Given the description of an element on the screen output the (x, y) to click on. 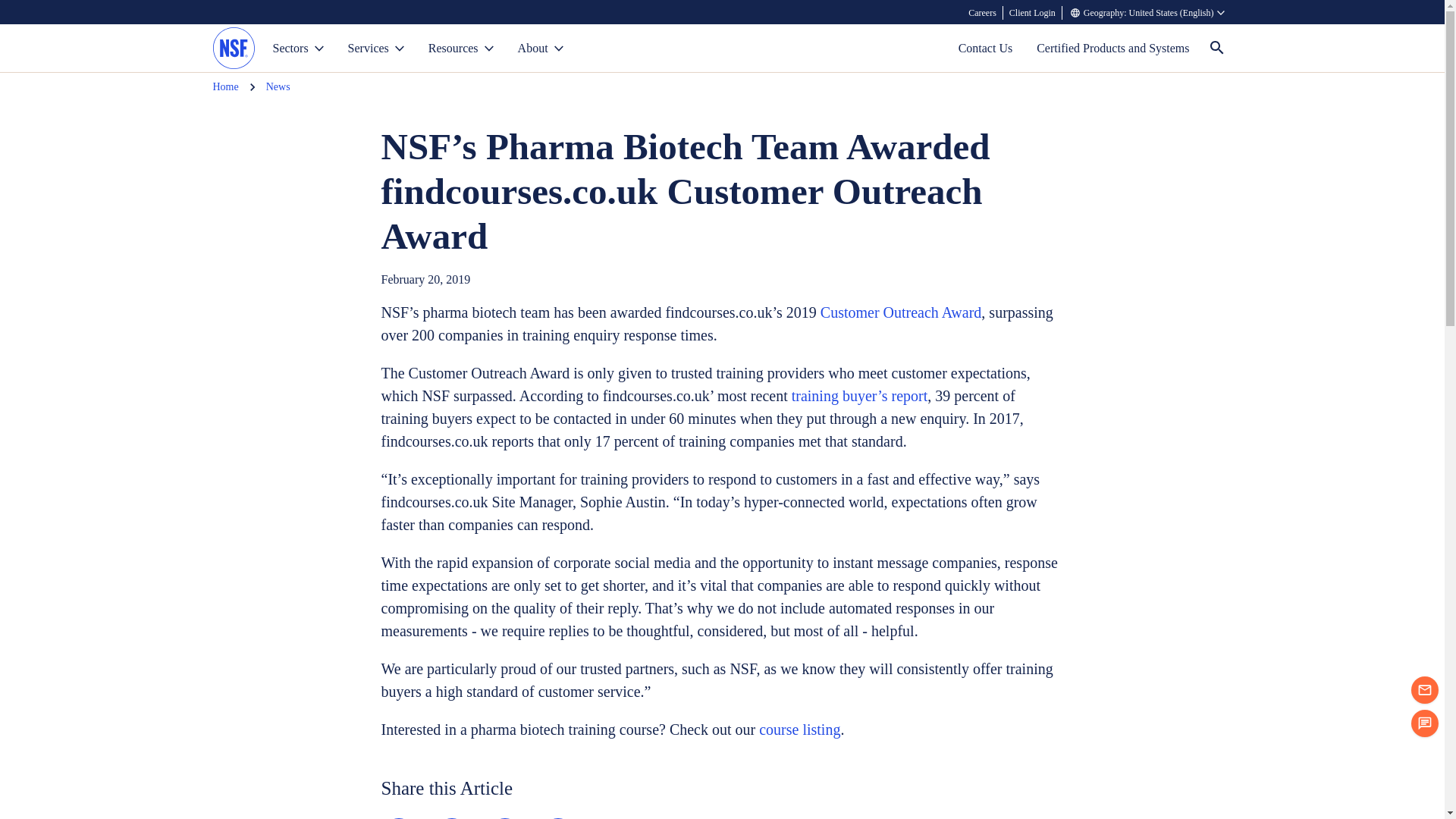
Contact us (1424, 689)
Contact Us (985, 48)
course listing (799, 729)
Services (376, 48)
Client Login (1032, 12)
Customer Outreach Award (901, 312)
Chat with us (1424, 723)
About (540, 48)
